Given the description of an element on the screen output the (x, y) to click on. 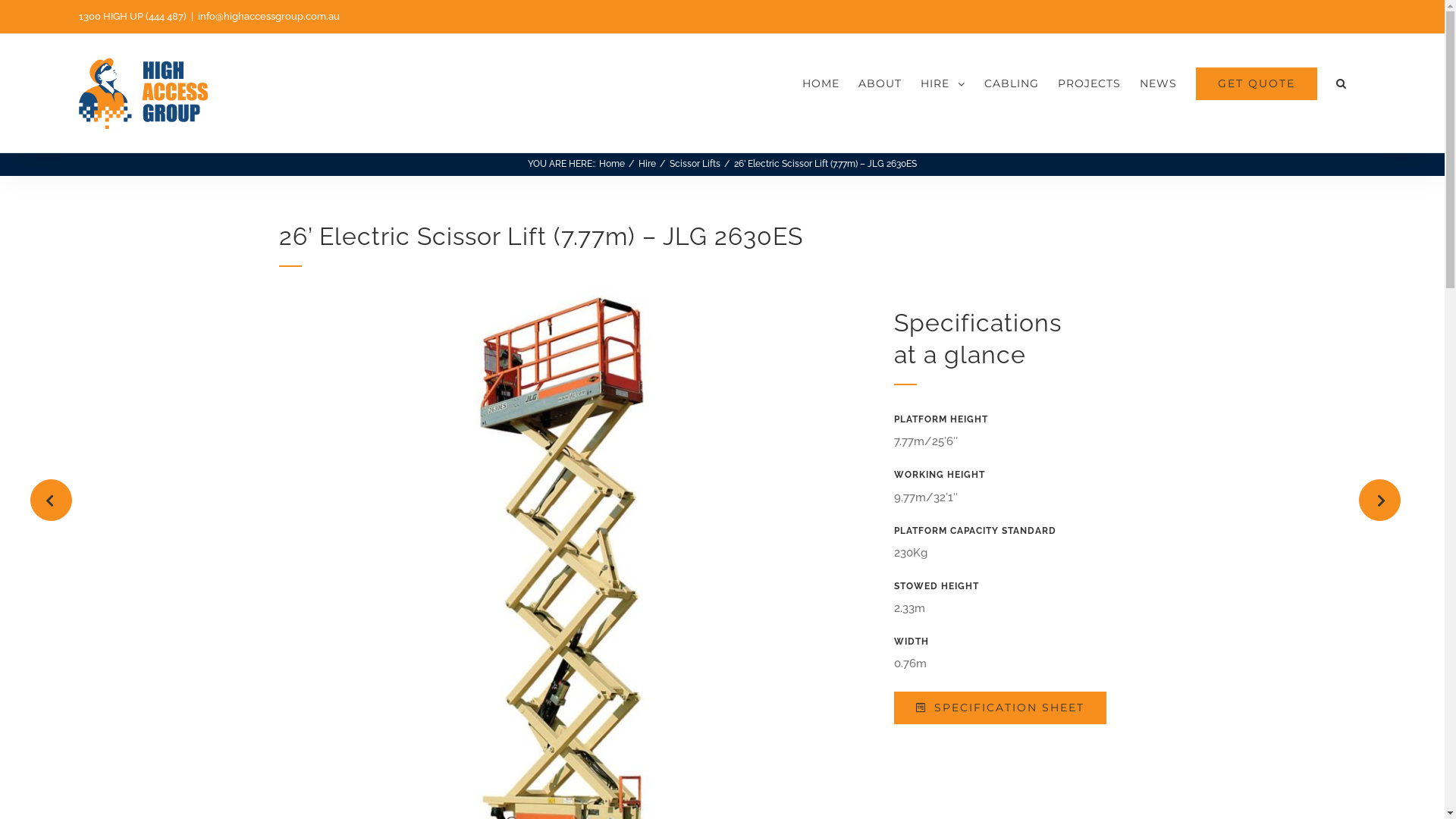
info@highaccessgroup.com.au Element type: text (268, 15)
Next Element type: hover (1379, 499)
GET QUOTE Element type: text (1256, 83)
PROJECTS Element type: text (1088, 83)
Scissor Lifts Element type: text (694, 163)
ABOUT Element type: text (879, 83)
Home Element type: text (611, 163)
Previous Element type: hover (51, 499)
HIRE Element type: text (942, 83)
SPECIFICATION SHEET Element type: text (1000, 707)
HOME Element type: text (820, 83)
CABLING Element type: text (1011, 83)
NEWS Element type: text (1157, 83)
Hire Element type: text (646, 163)
Search Element type: hover (1341, 83)
